Given the description of an element on the screen output the (x, y) to click on. 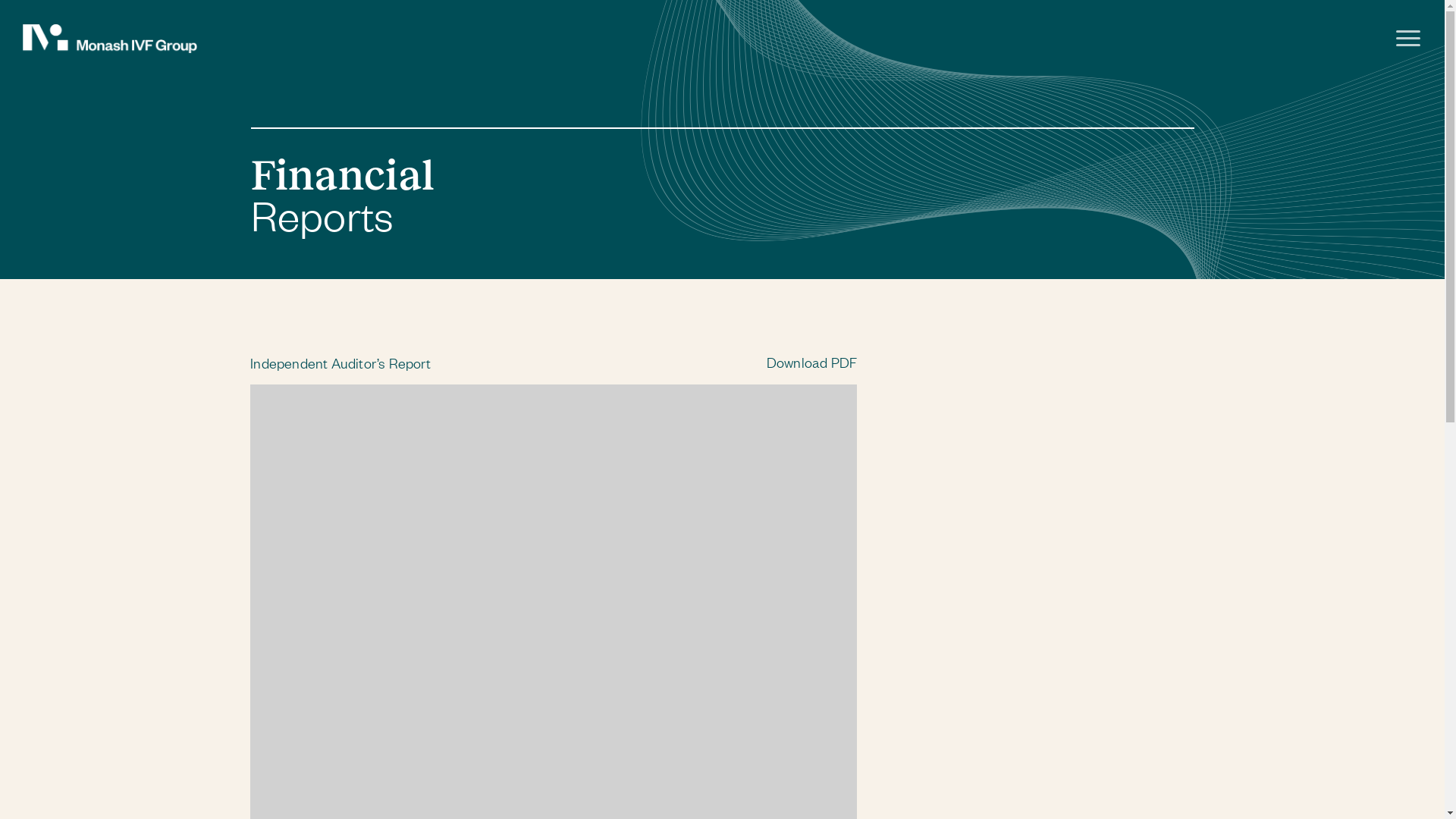
A year in review Element type: text (1083, 663)
Board of Directors Element type: text (1083, 685)
Download PDF Element type: text (811, 361)
Home Element type: text (1083, 621)
Download Element type: text (531, 751)
Management Team Element type: text (1083, 706)
About us Element type: text (1083, 642)
Privacy Policy Element type: text (1006, 741)
